Given the description of an element on the screen output the (x, y) to click on. 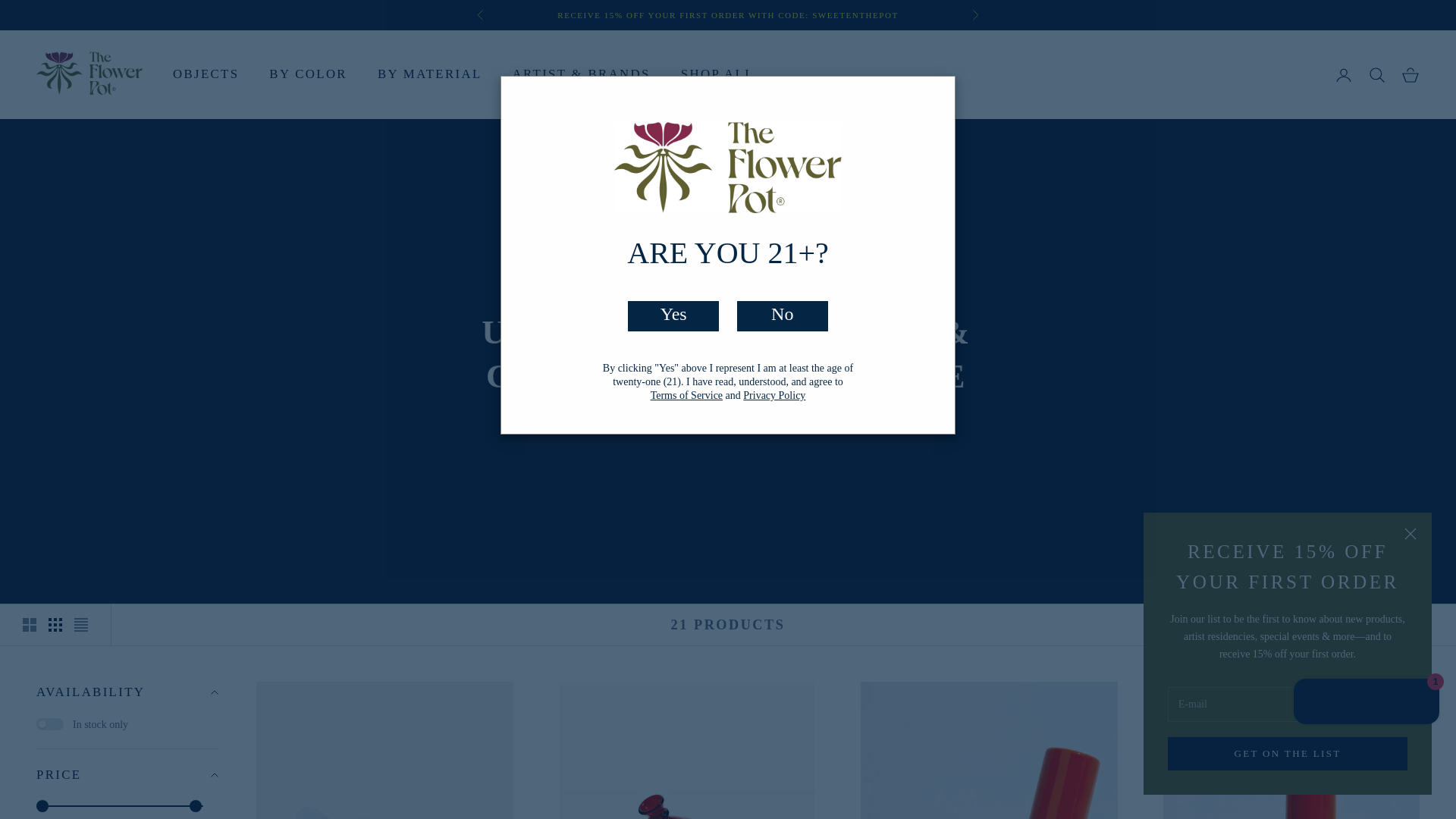
Previous (480, 15)
Shopify online store chat (1366, 703)
1 (50, 724)
Next (975, 15)
